Given the description of an element on the screen output the (x, y) to click on. 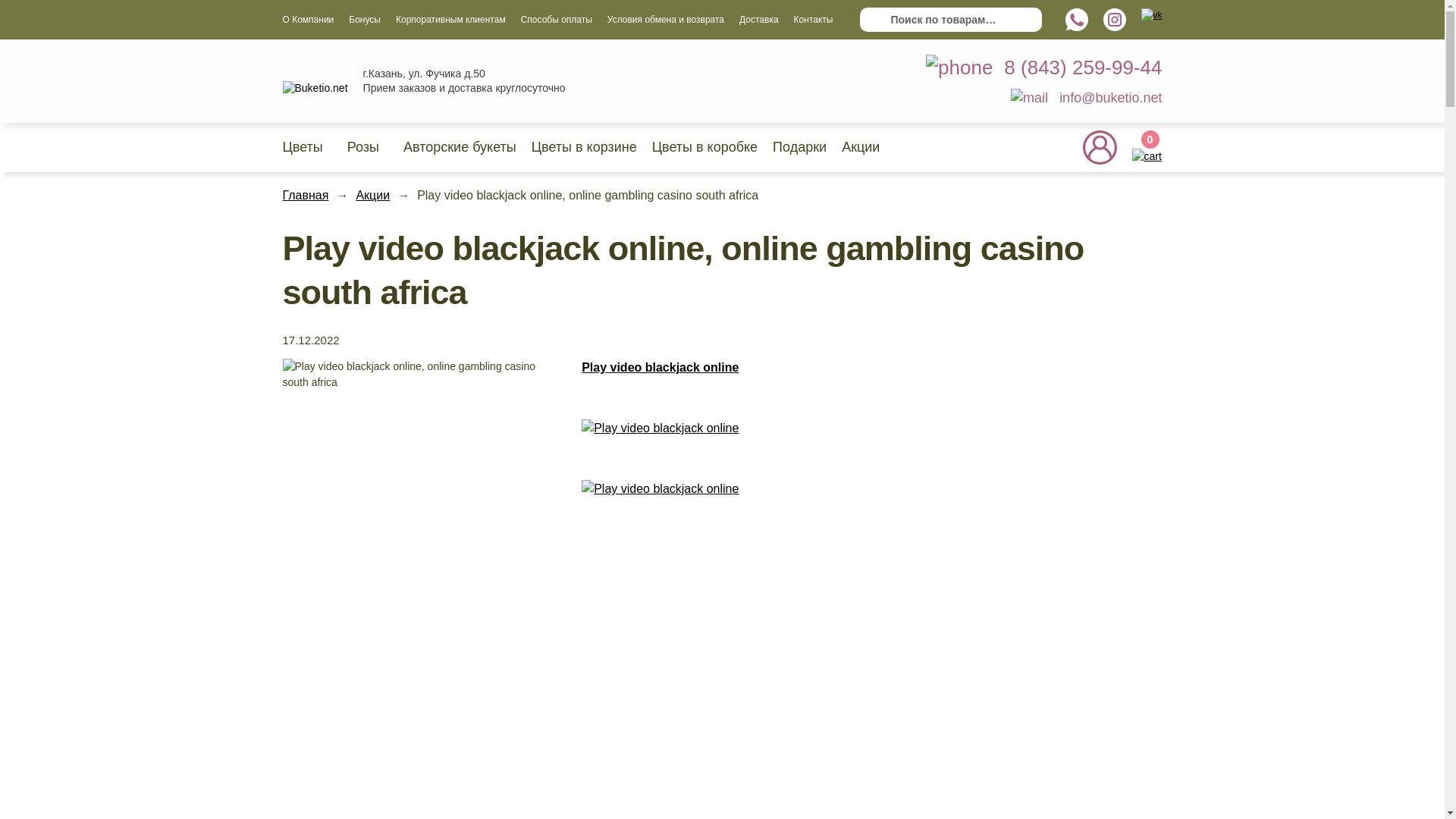
Play video blackjack online (846, 428)
Play video blackjack online (846, 488)
